Given the description of an element on the screen output the (x, y) to click on. 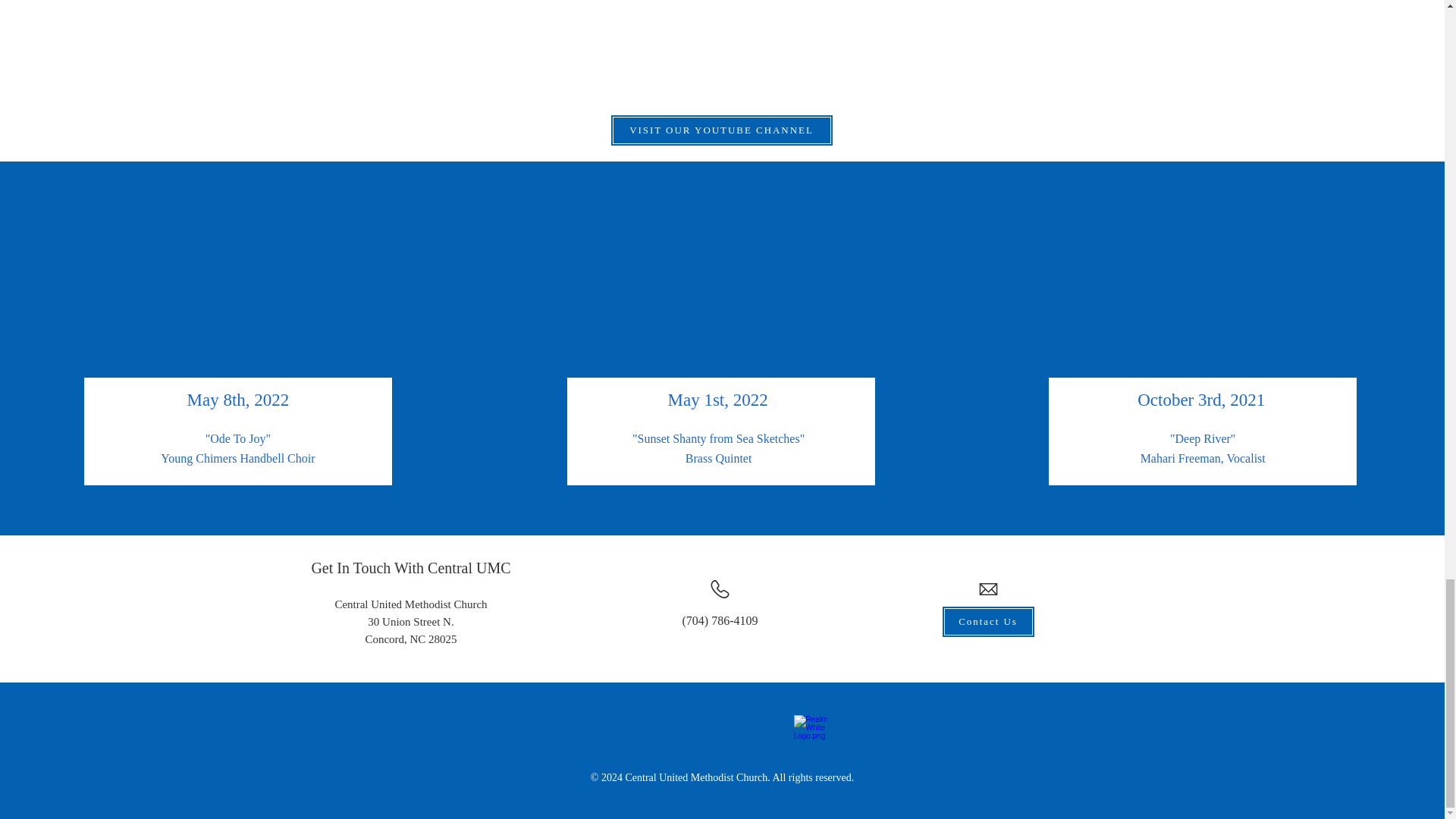
Contact Us (988, 622)
VISIT OUR YOUTUBE CHANNEL (721, 130)
